Given the description of an element on the screen output the (x, y) to click on. 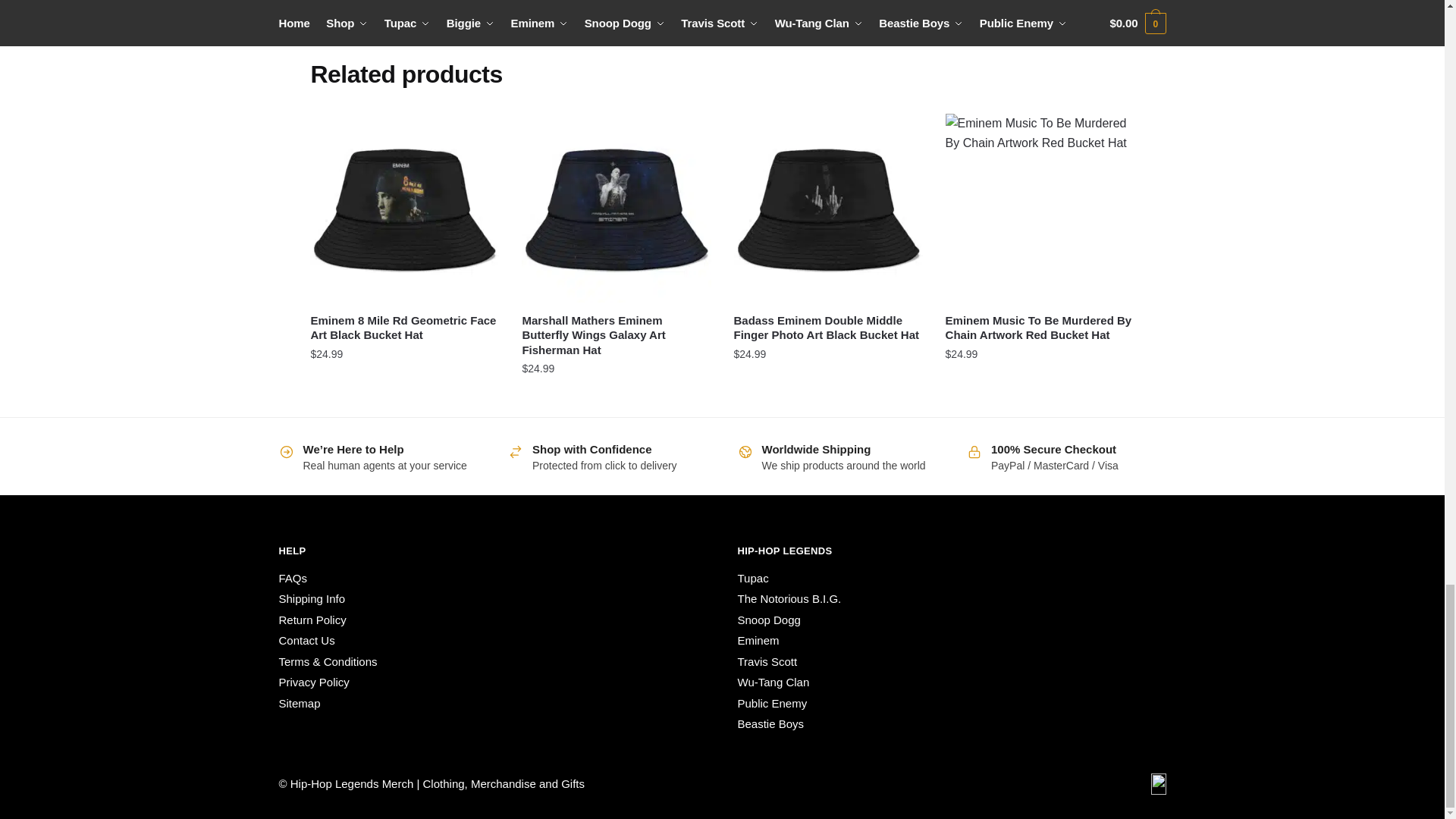
Eminem Music To Be Murdered By Chain Artwork Red Bucket Hat (1039, 207)
Eminem 8 Mile Rd Geometric Face Art Black Bucket Hat (404, 207)
